Given the description of an element on the screen output the (x, y) to click on. 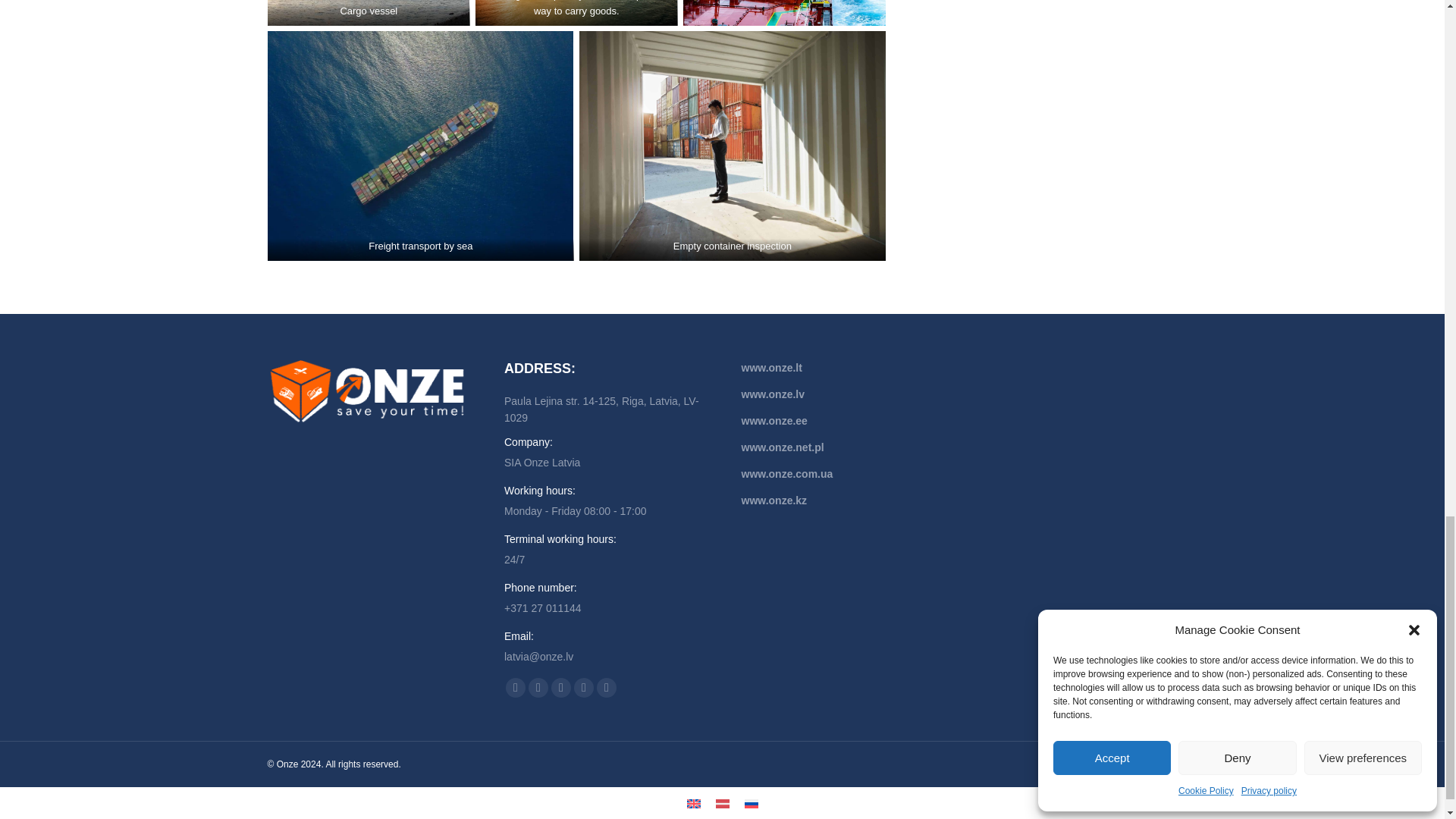
YouTube page opens in new window (515, 687)
Whatsapp page opens in new window (605, 687)
Viber page opens in new window (583, 687)
Linkedin page opens in new window (538, 687)
Mail page opens in new window (560, 687)
